Given the description of an element on the screen output the (x, y) to click on. 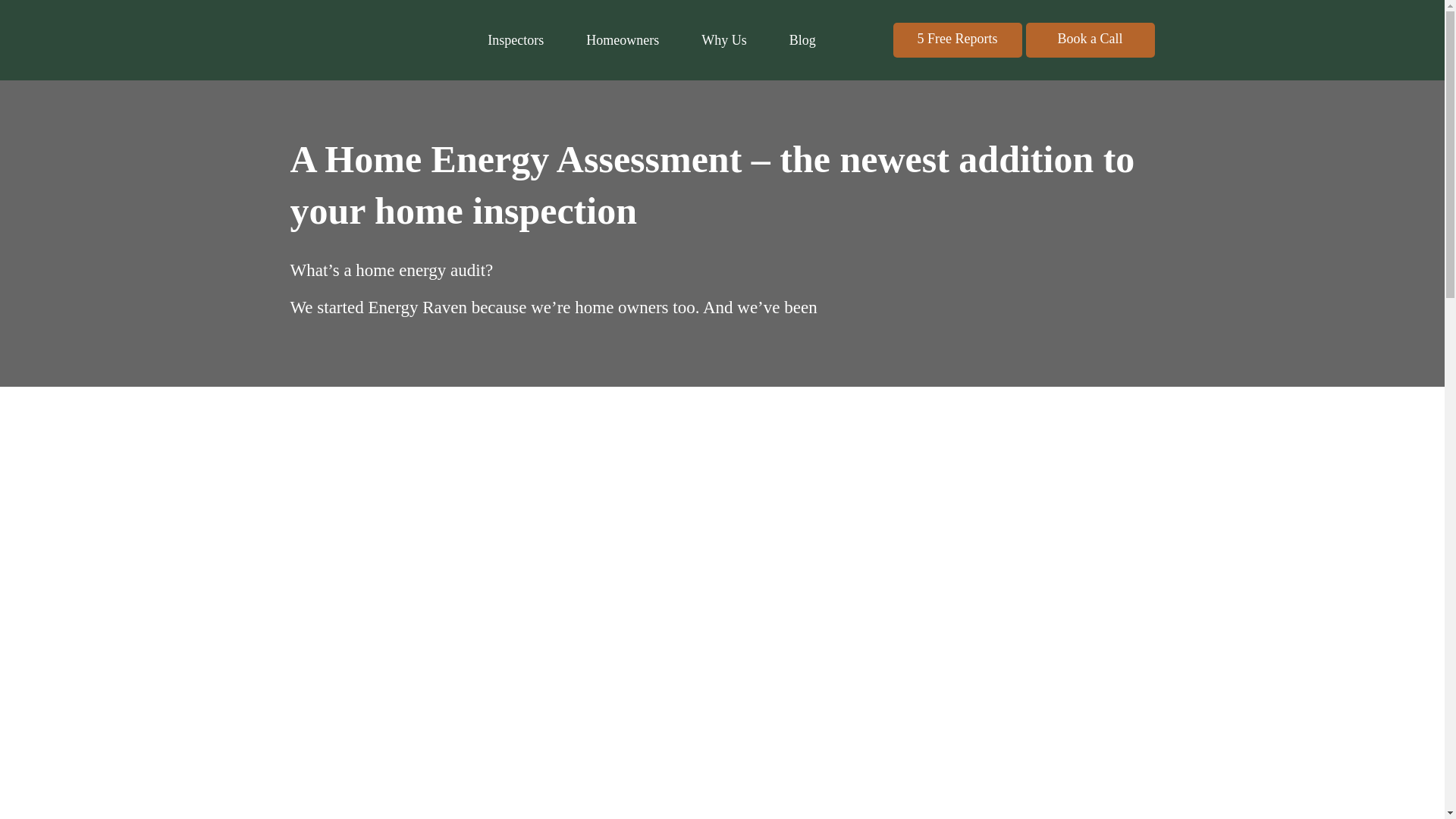
Homeowners (622, 40)
Book a Call (1089, 39)
5 Free Reports (957, 39)
